Given the description of an element on the screen output the (x, y) to click on. 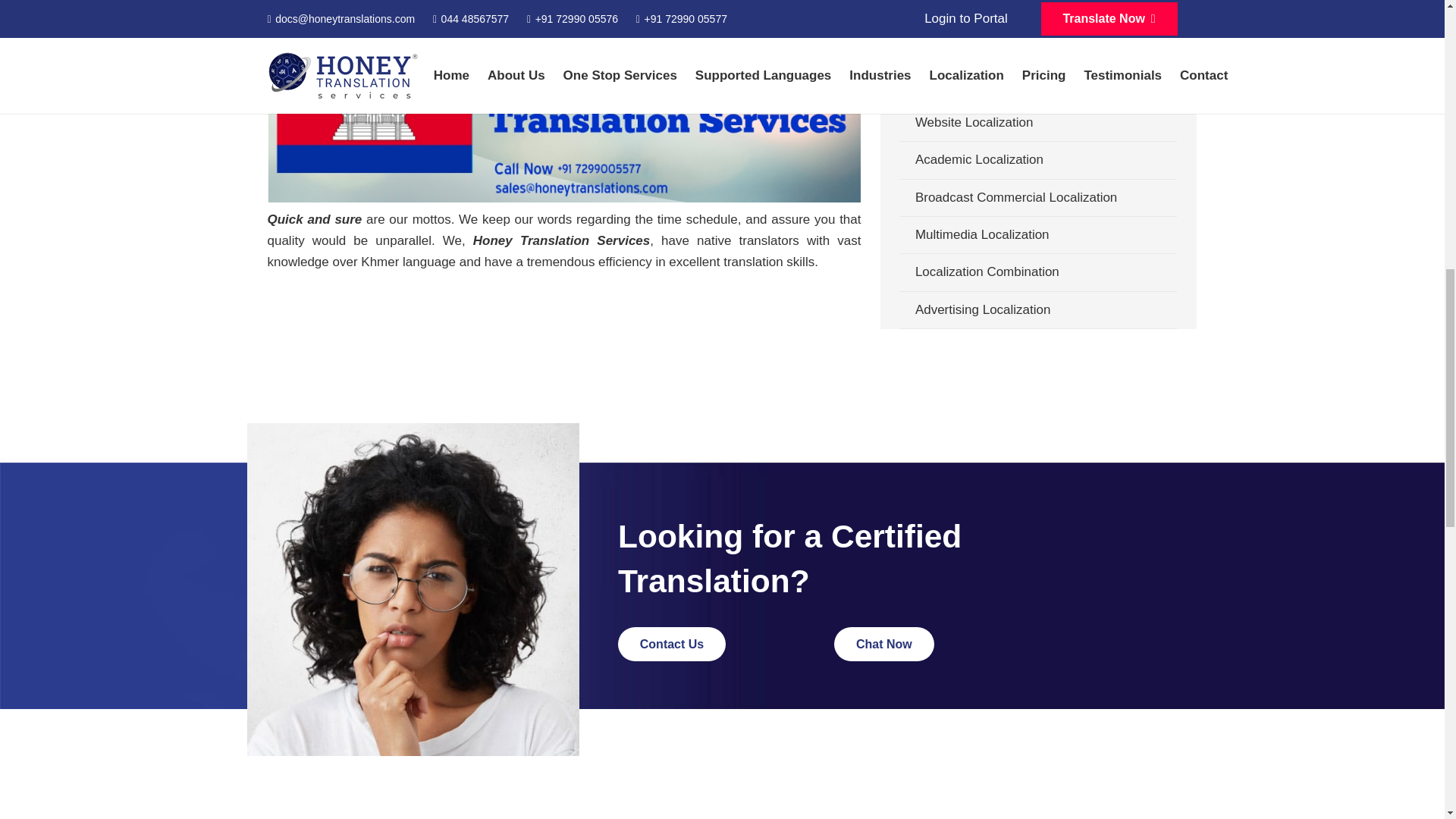
Back to top (1413, 34)
